Given the description of an element on the screen output the (x, y) to click on. 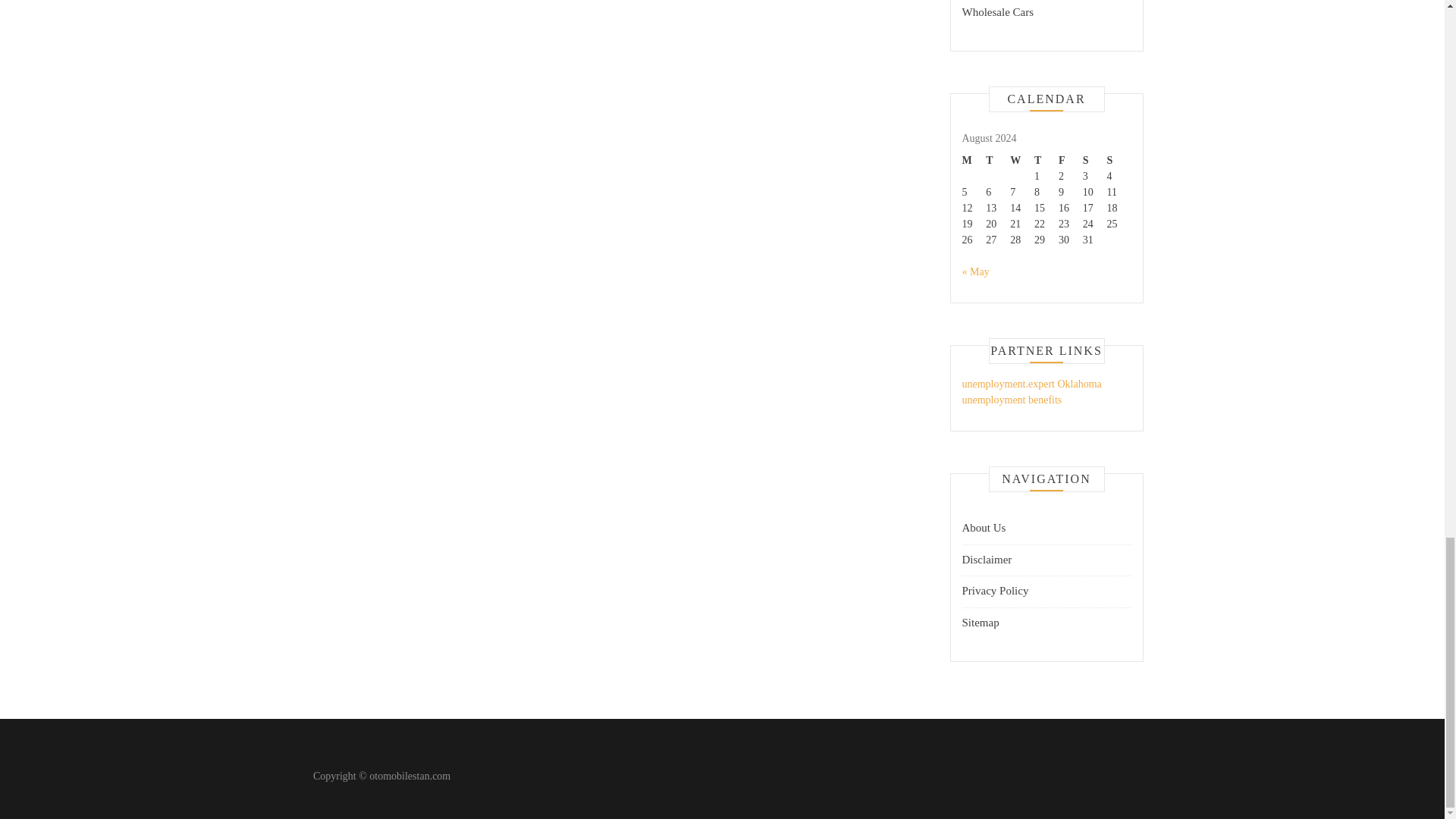
Monday (972, 160)
Saturday (1094, 160)
Wednesday (1021, 160)
Sunday (1118, 160)
Thursday (1045, 160)
Friday (1070, 160)
Tuesday (997, 160)
